Given the description of an element on the screen output the (x, y) to click on. 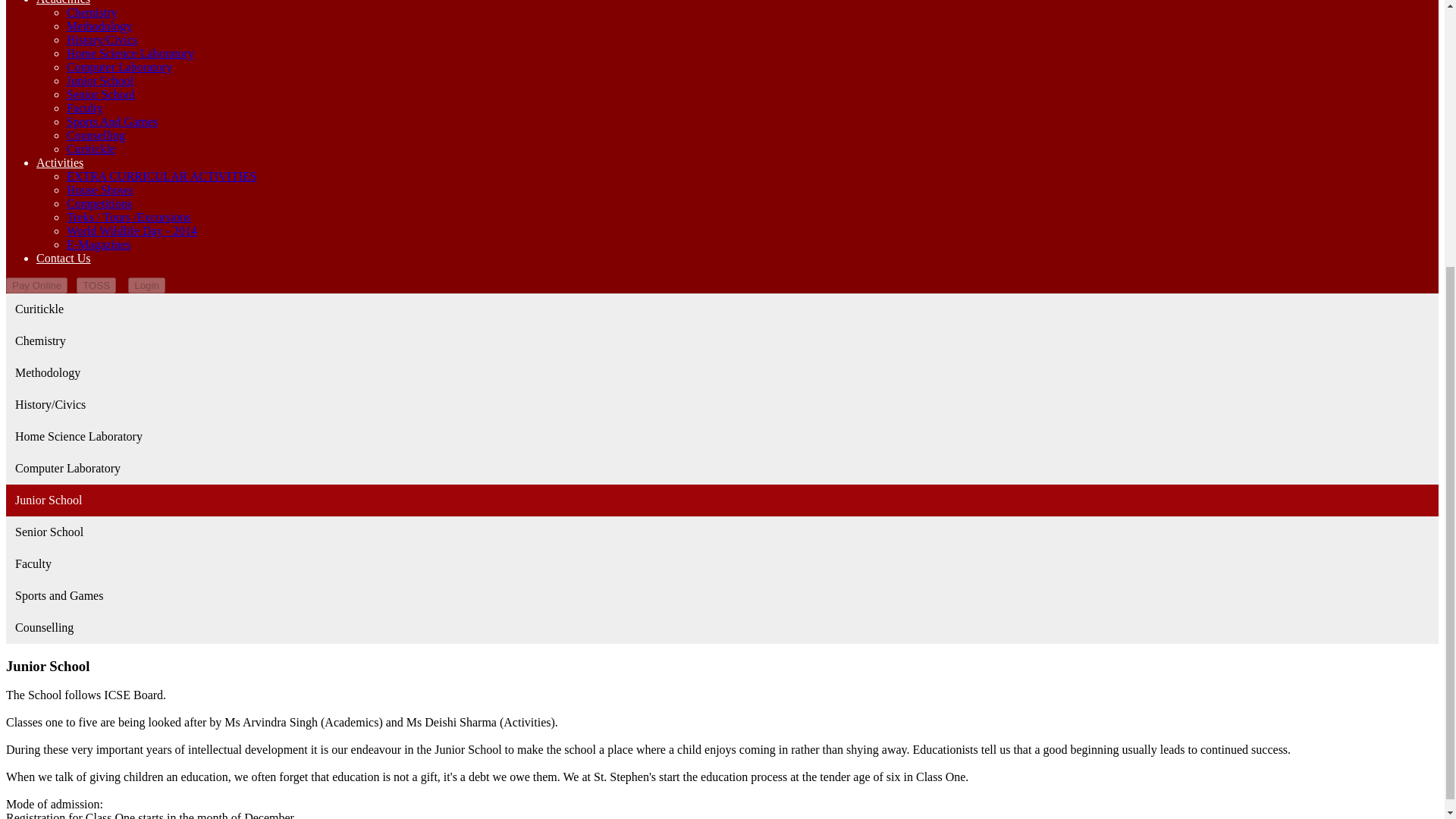
Pay Now (35, 285)
Chemistry (91, 11)
Sports And Games (111, 121)
The Old Stephenian Society (96, 285)
Activities (59, 162)
Counselling (95, 134)
Academics (63, 2)
Curitickle (90, 148)
Faculty (84, 107)
Junior School (99, 80)
Senior School (100, 93)
Home Science Laboratory (129, 52)
Methodology (99, 25)
Computer Laboratory (118, 66)
